Given the description of an element on the screen output the (x, y) to click on. 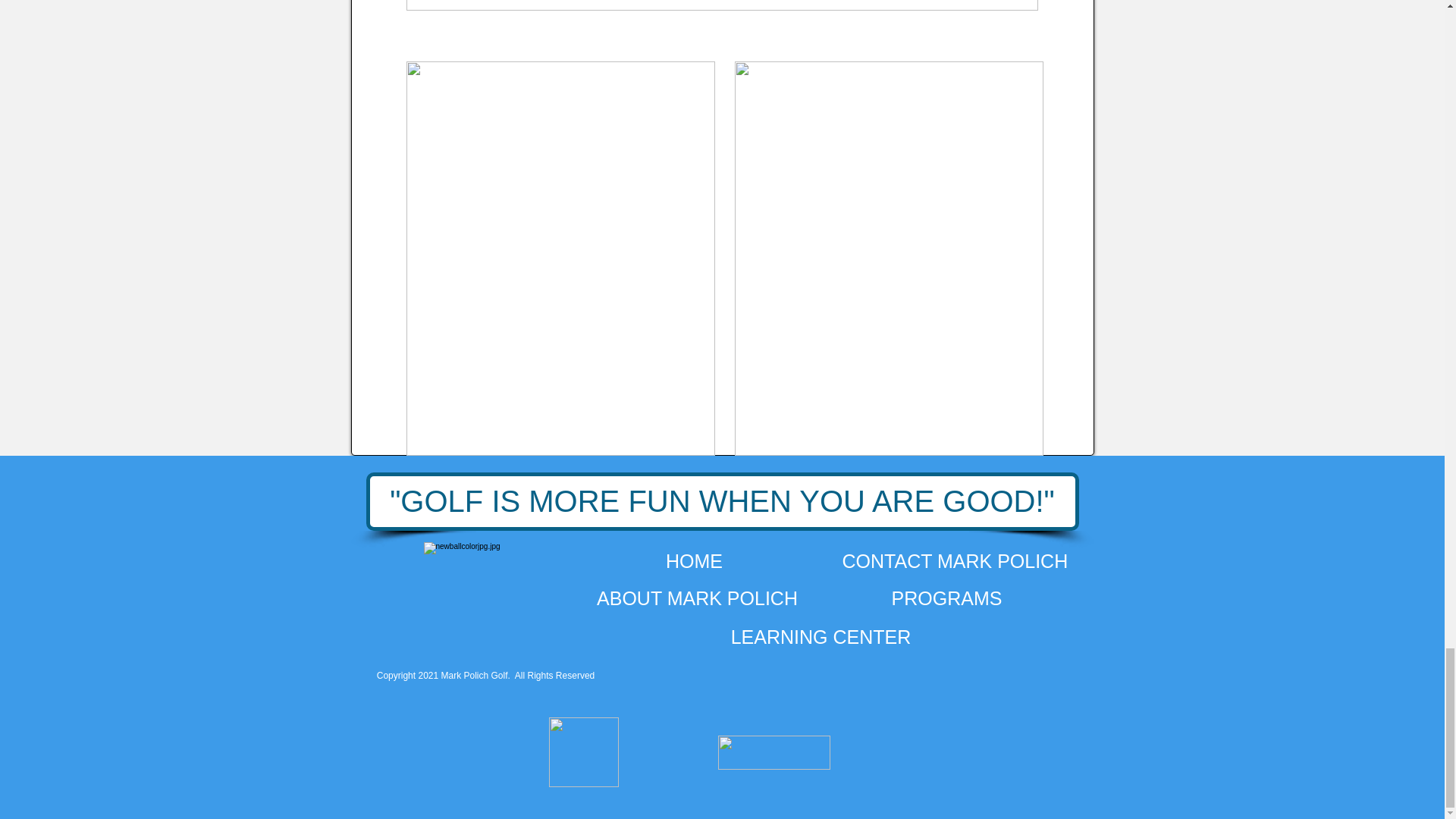
HOME (694, 561)
PROGRAMS (947, 598)
ABOUT MARK POLICH (696, 598)
LEARNING CENTER (820, 636)
CONTACT MARK POLICH (954, 561)
